Given the description of an element on the screen output the (x, y) to click on. 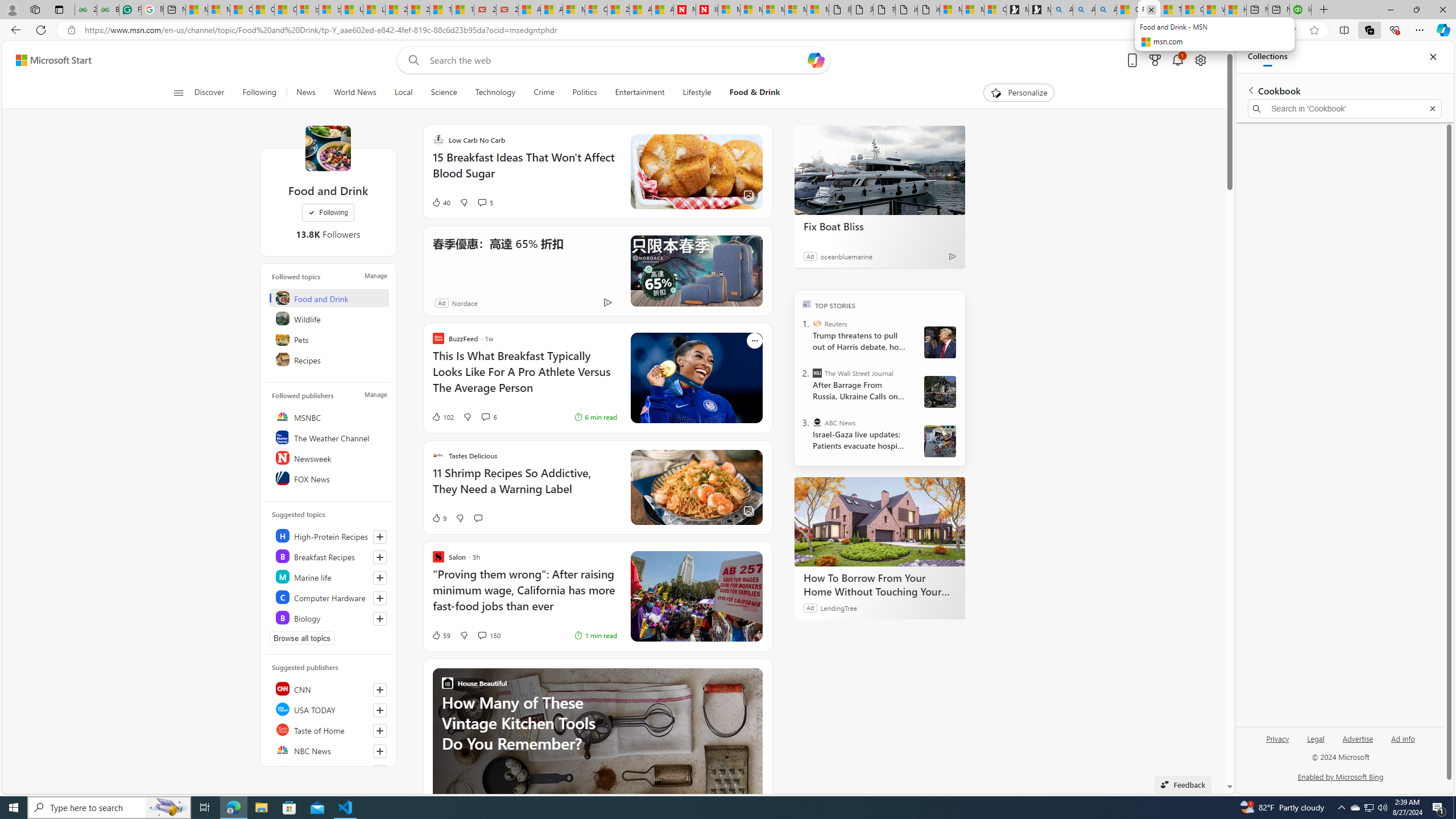
ABC News (816, 422)
Fix Boat Bliss (879, 169)
Exit search (1432, 108)
FOX News (328, 478)
